Given the description of an element on the screen output the (x, y) to click on. 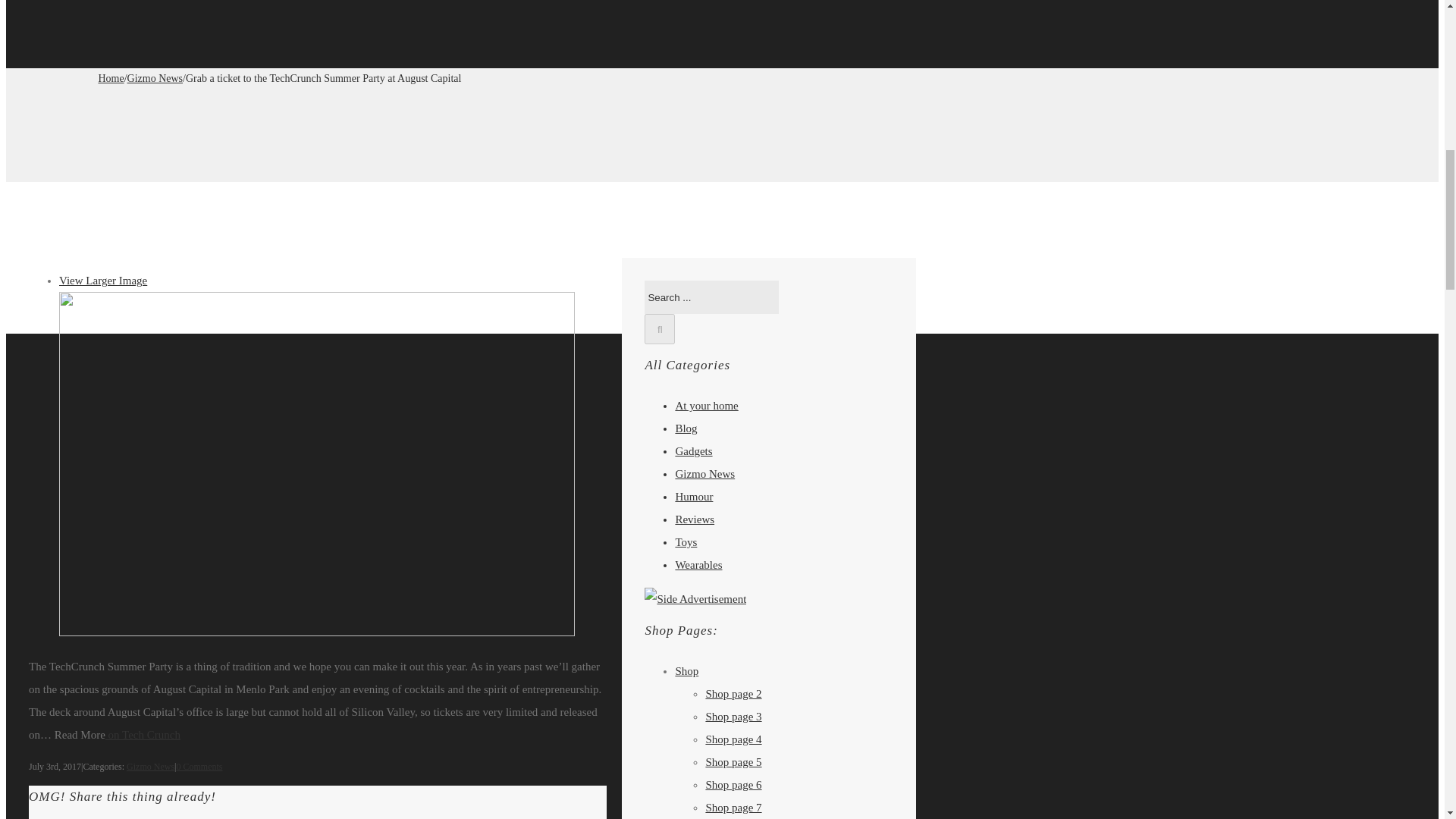
Home (110, 78)
Gizmo News (155, 78)
on Tech Crunch (142, 734)
Gizmo News (150, 766)
0 Comments (199, 766)
